Given the description of an element on the screen output the (x, y) to click on. 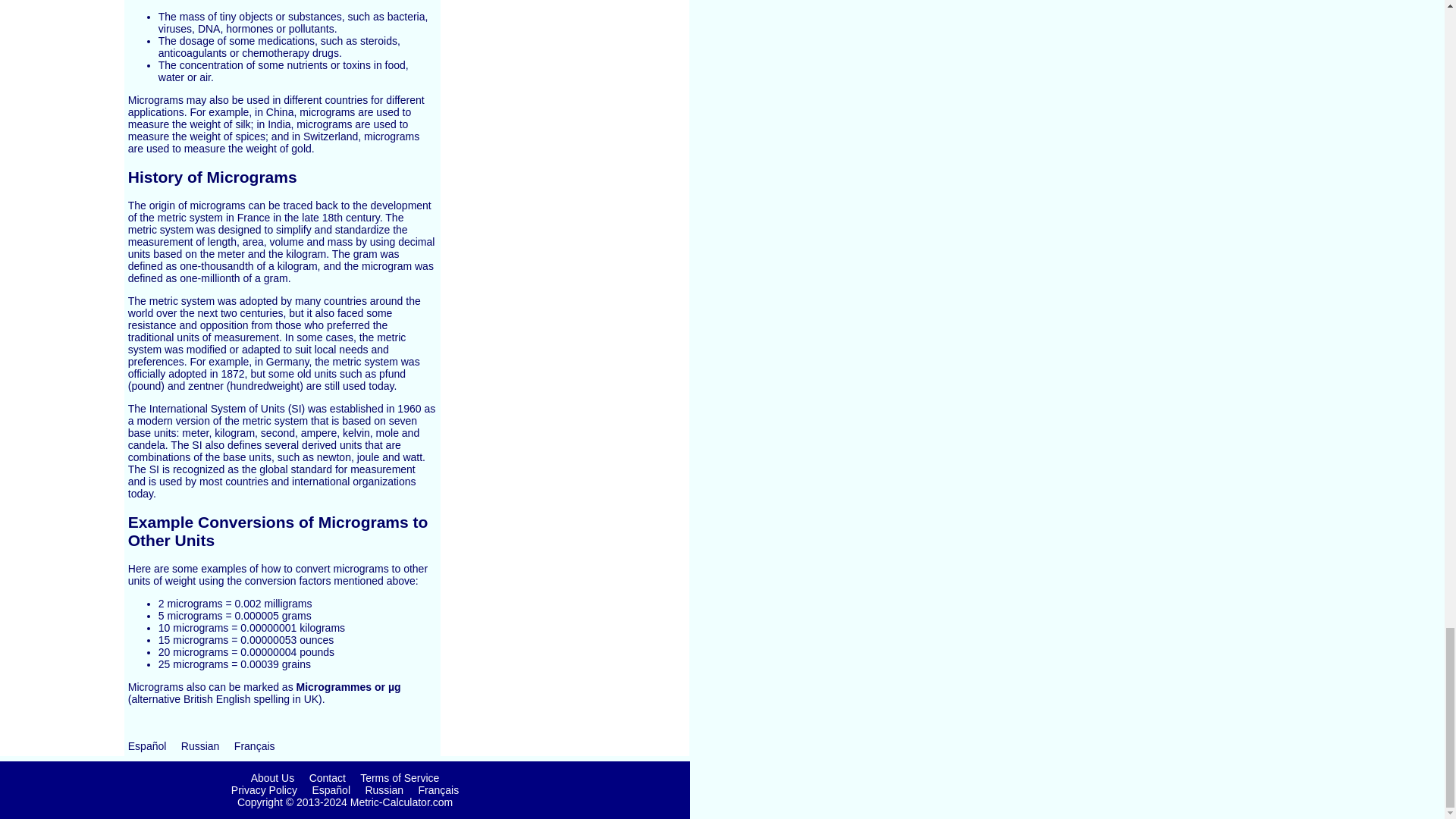
Russian (199, 746)
